Given the description of an element on the screen output the (x, y) to click on. 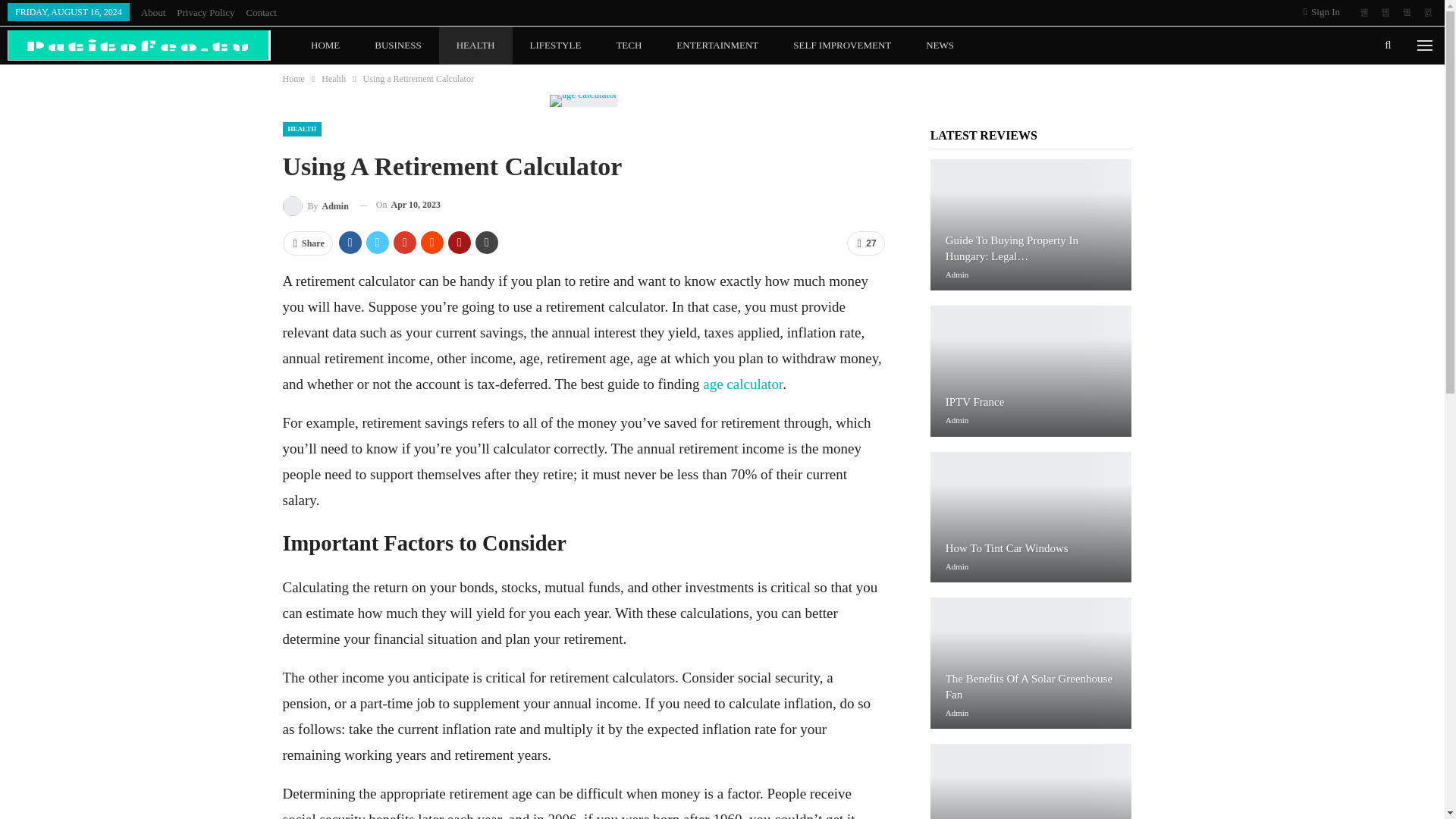
Privacy Policy (205, 12)
BUSINESS (397, 45)
LIFESTYLE (555, 45)
HEALTH (475, 45)
About (153, 12)
Contact (261, 12)
TECH (628, 45)
HOME (325, 45)
Browse Author Articles (956, 275)
